Given the description of an element on the screen output the (x, y) to click on. 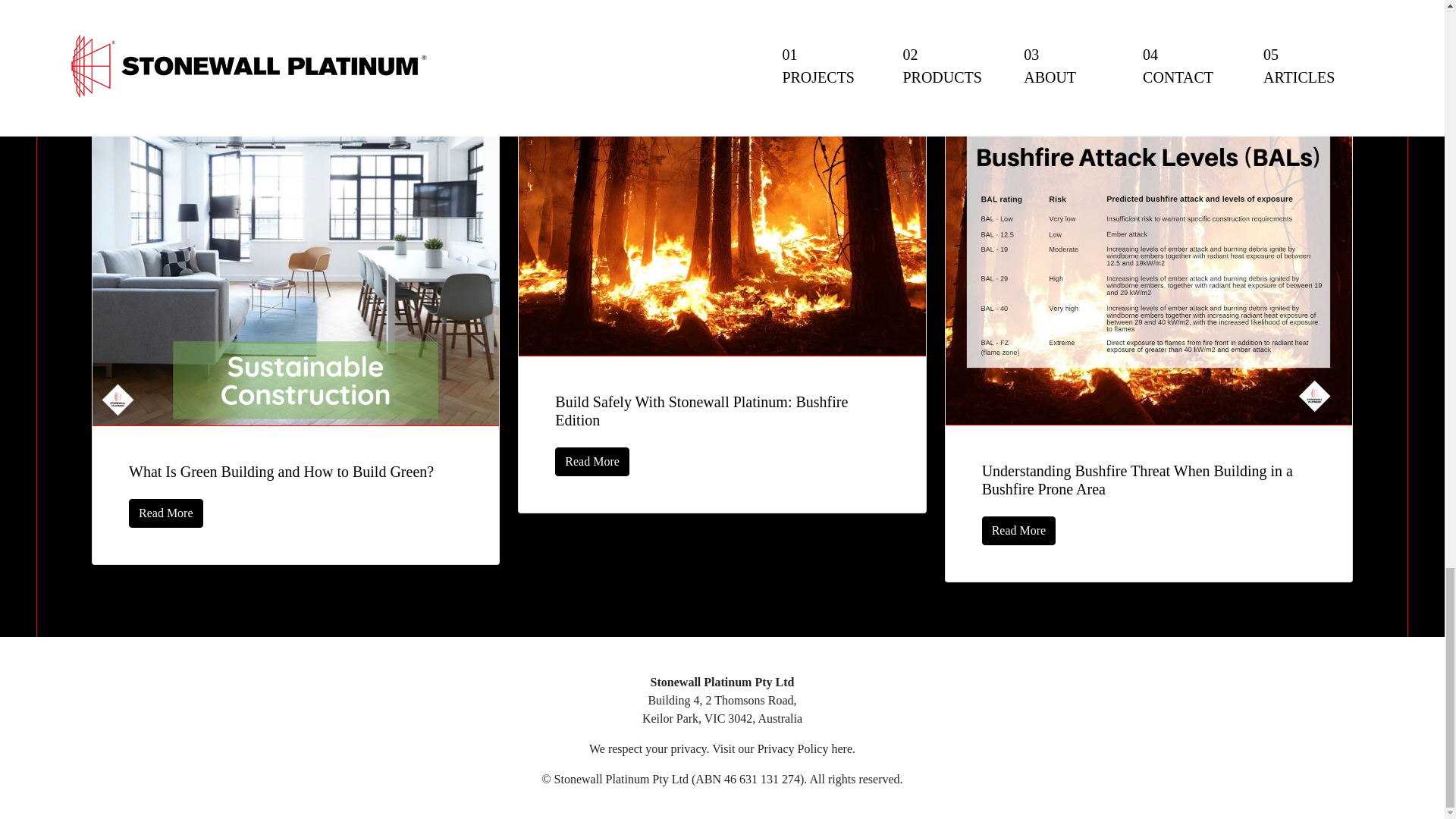
Read More (1019, 530)
Feature image (721, 220)
Read More (591, 461)
PREVIOUS ARTICLES (721, 38)
Read More (166, 512)
